Given the description of an element on the screen output the (x, y) to click on. 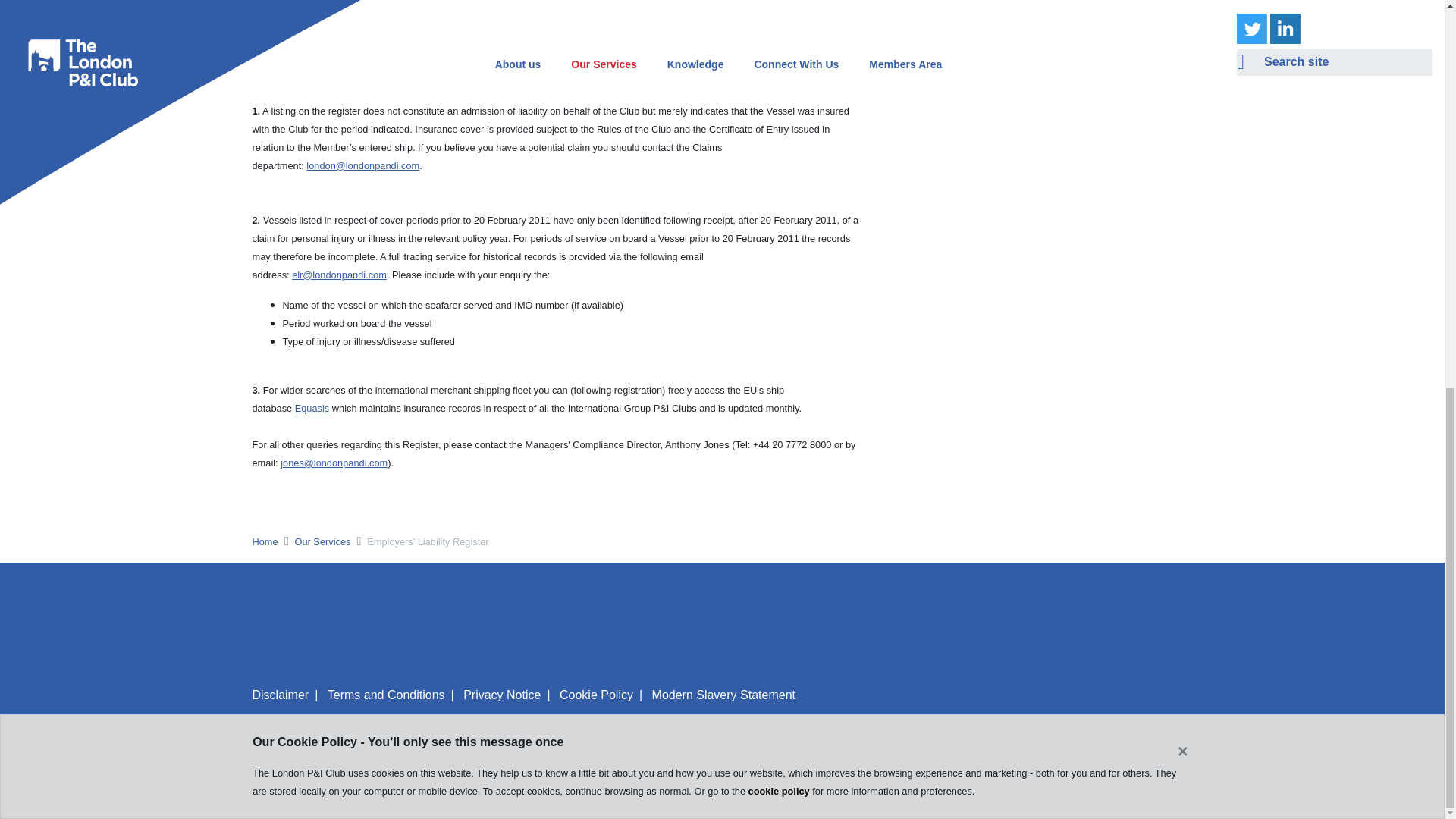
cookie policy (778, 54)
